Given the description of an element on the screen output the (x, y) to click on. 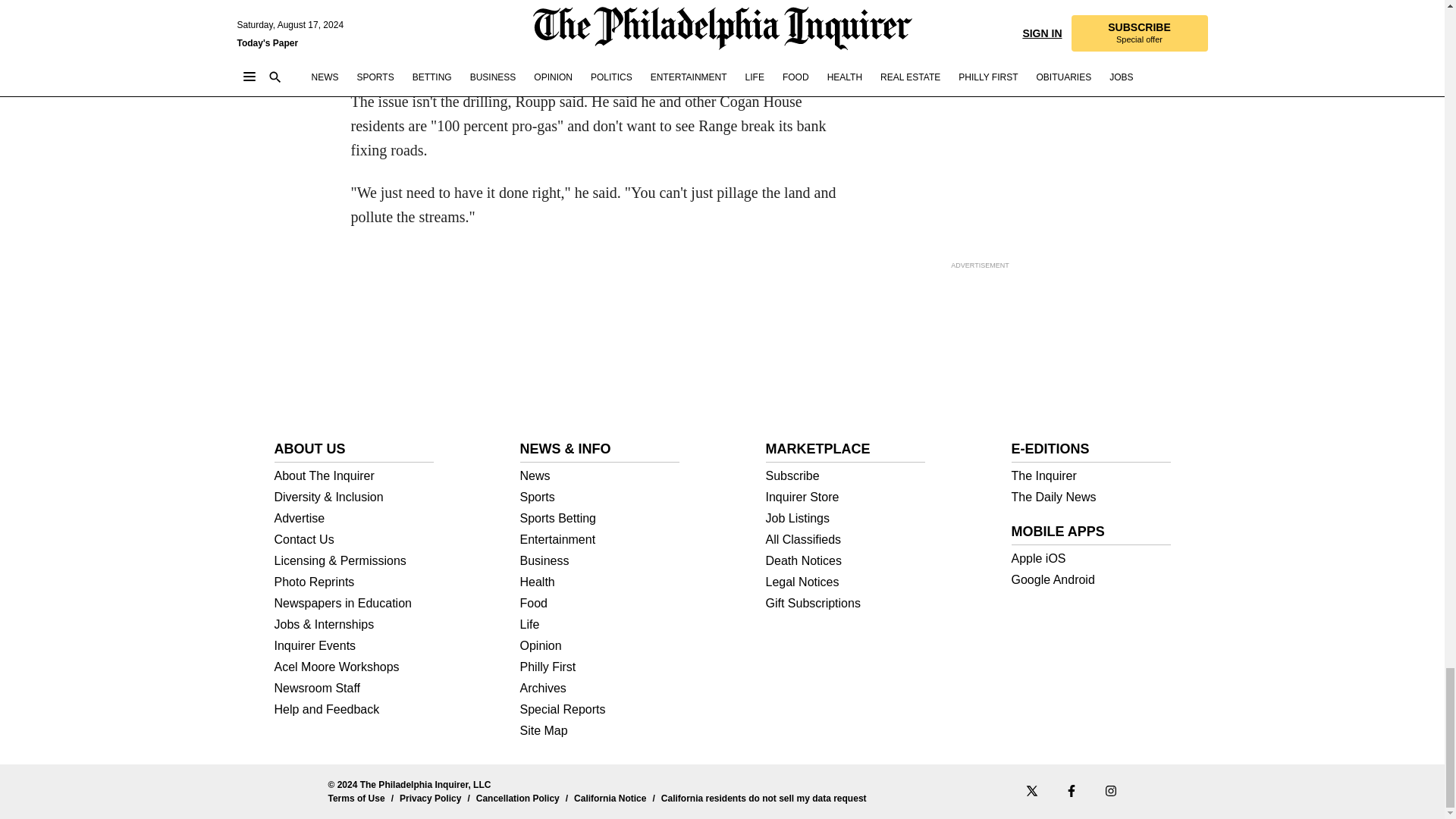
About The Inquirer (354, 476)
Contact Us (354, 539)
X (1030, 790)
Instagram (1109, 790)
Advertise (354, 518)
Facebook (1070, 790)
